Given the description of an element on the screen output the (x, y) to click on. 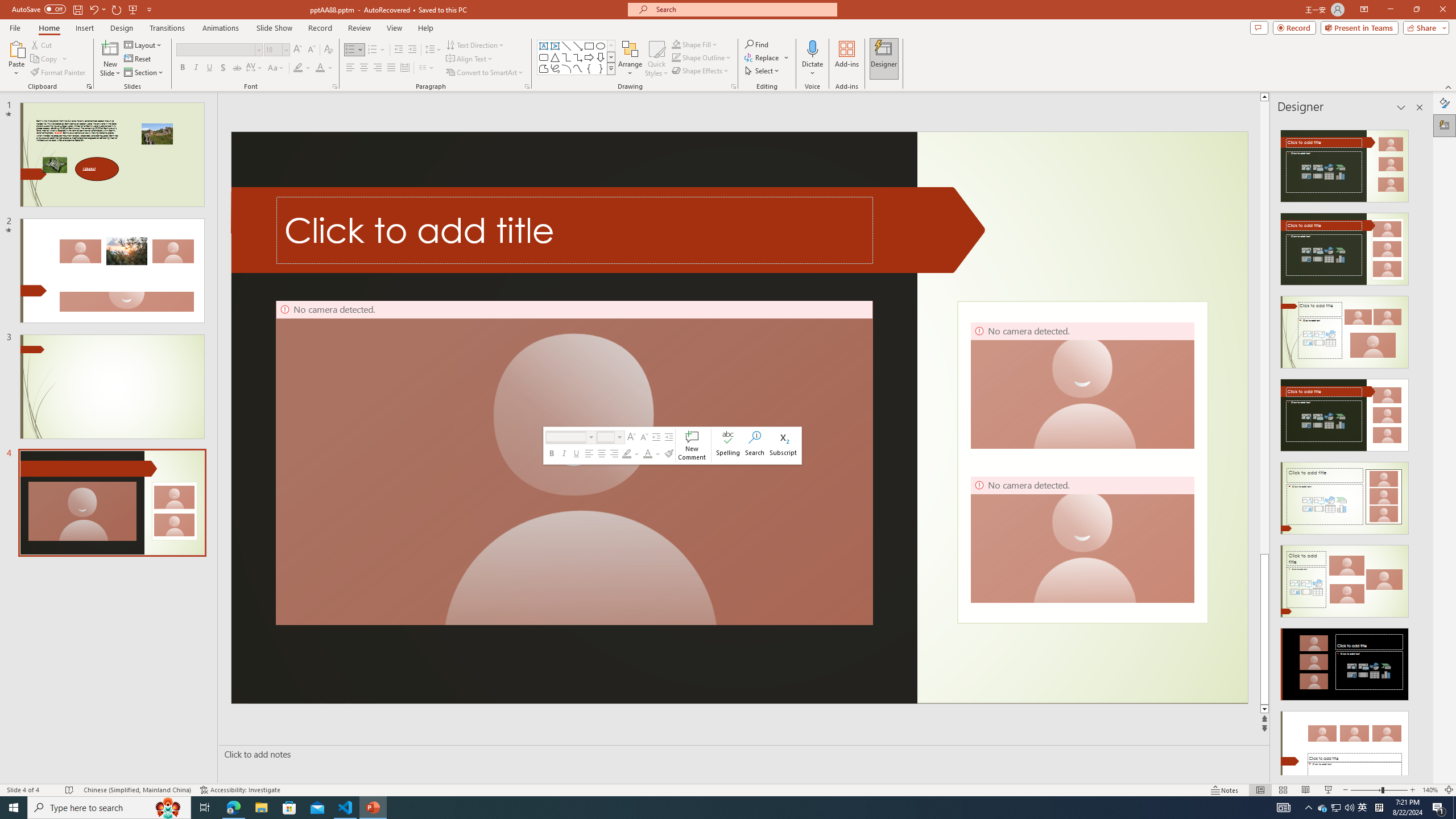
Search (754, 445)
Shape Fill Aqua, Accent 2 (675, 44)
Format Background (1444, 102)
Arrange (630, 58)
More Options (812, 68)
Comments (1259, 27)
Character Spacing (254, 67)
Recommended Design: Design Idea (1344, 162)
Present in Teams (1359, 27)
Slide Show (1328, 790)
Animations (220, 28)
Close pane (1419, 107)
Right Brace (600, 68)
Line Spacing (433, 49)
